Given the description of an element on the screen output the (x, y) to click on. 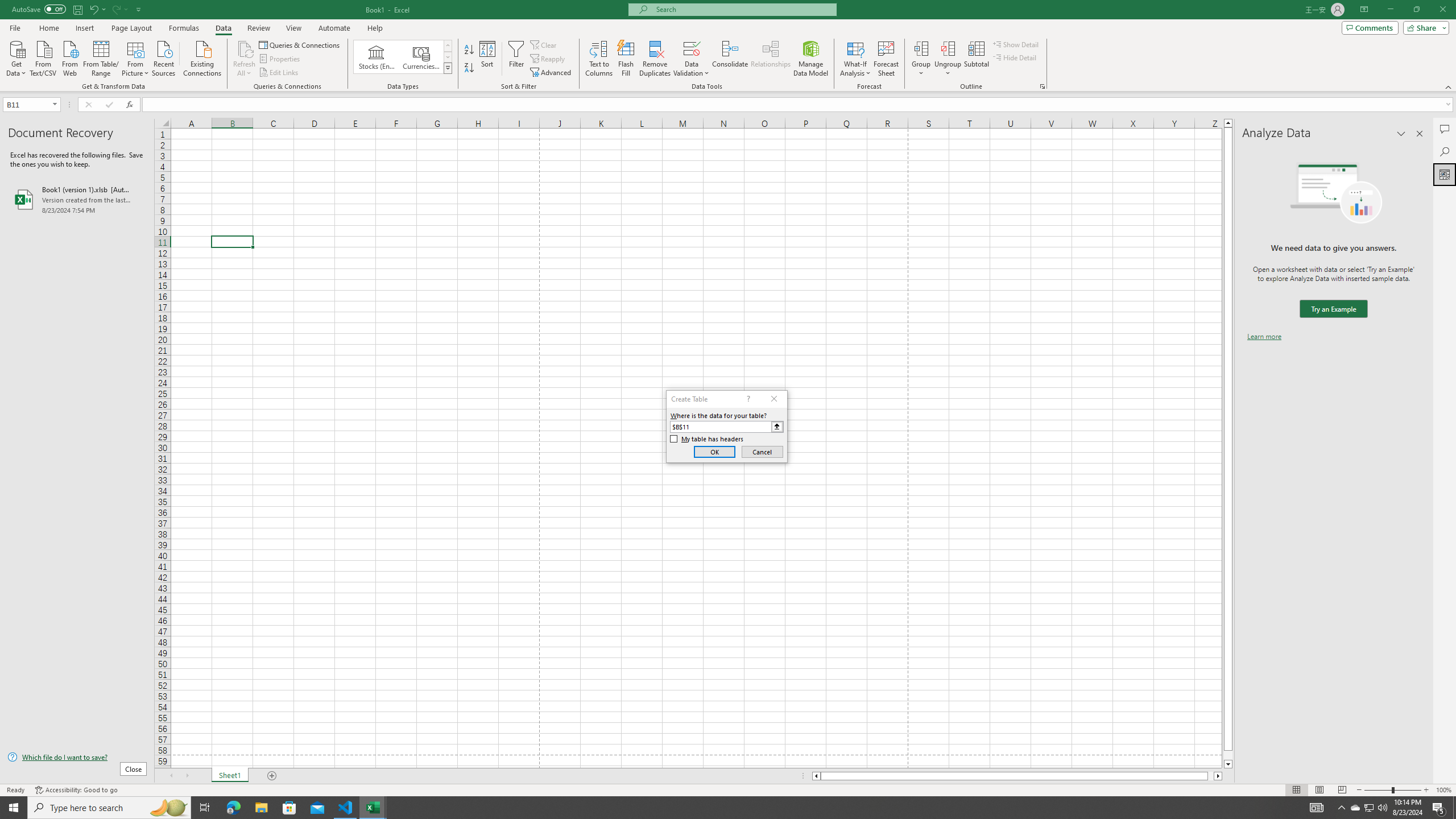
Hide Detail (1014, 56)
Get Data (16, 57)
Sort A to Z (469, 49)
Queries & Connections (300, 44)
Remove Duplicates (654, 58)
Class: MsoCommandBar (728, 45)
Relationships (770, 58)
